Given the description of an element on the screen output the (x, y) to click on. 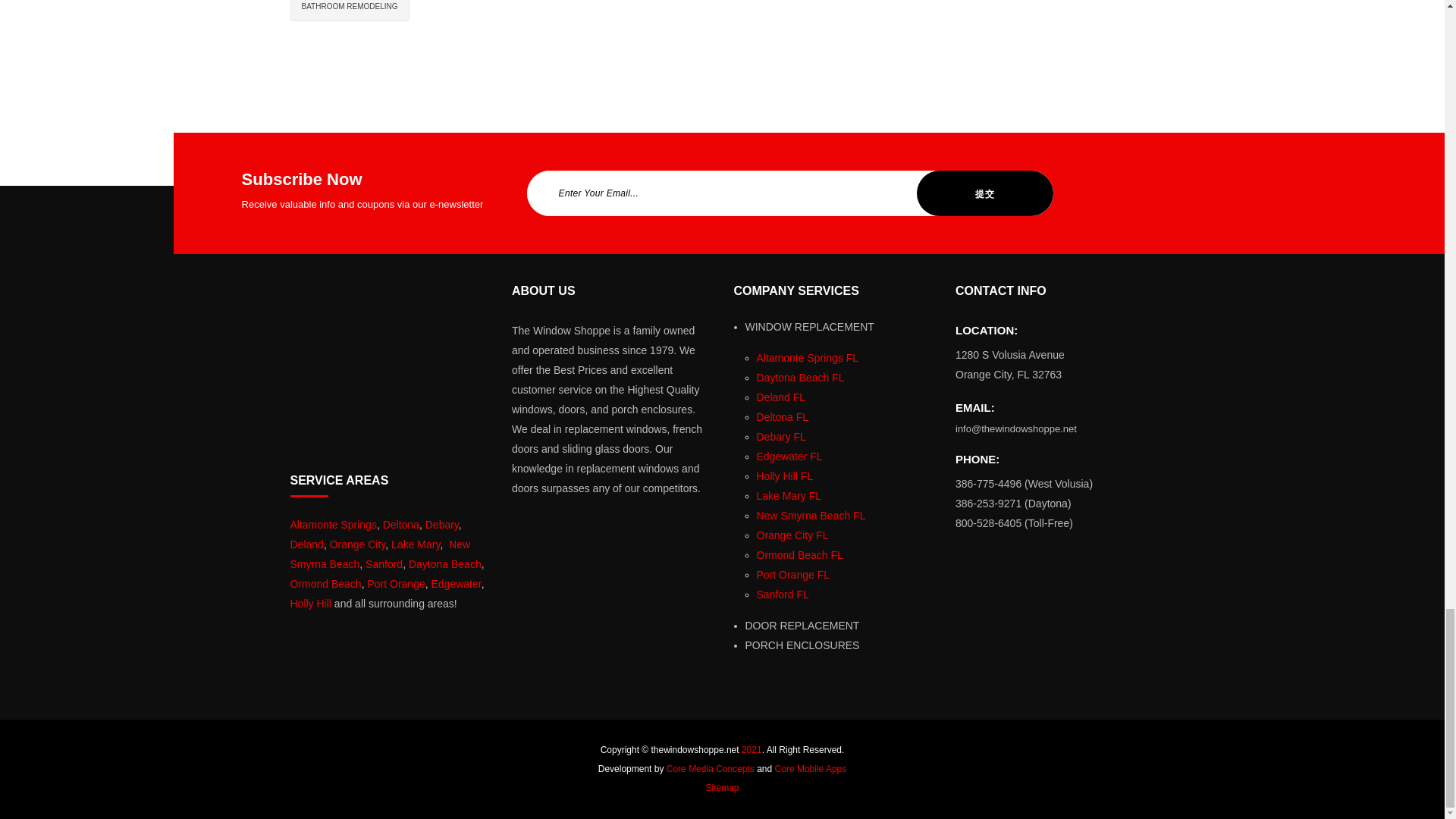
Deltona (400, 524)
Altamonte Springs (332, 524)
Deland (306, 544)
BATHROOM REMODELING (350, 10)
Debary (441, 524)
